Given the description of an element on the screen output the (x, y) to click on. 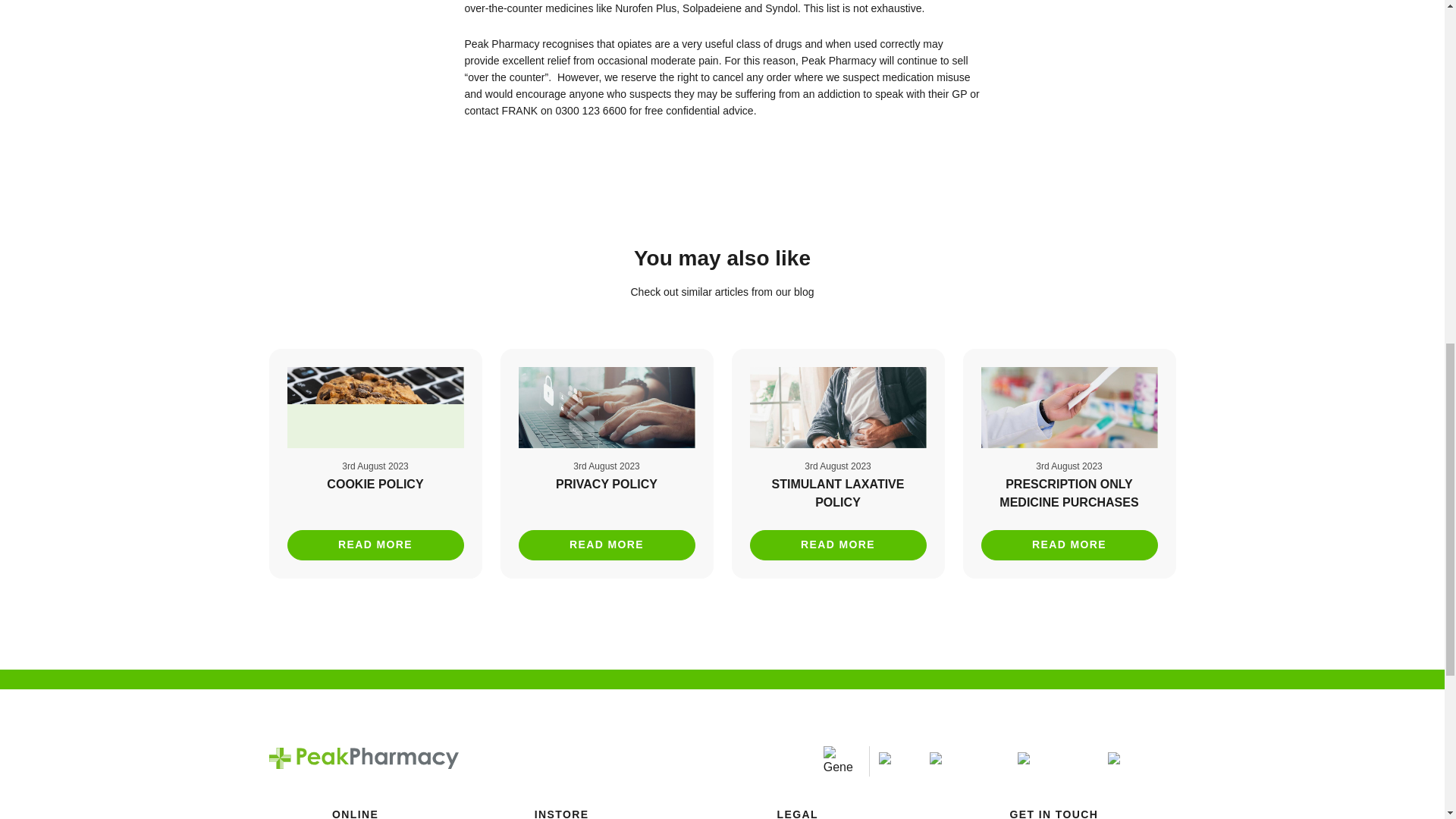
General Pharmaceutical Council (838, 761)
logo (362, 758)
Prescription Only Medicine Purchases (1069, 463)
Cookie Policy (374, 463)
Privacy Policy (606, 463)
Stimulant Laxative Policy (836, 463)
